Given the description of an element on the screen output the (x, y) to click on. 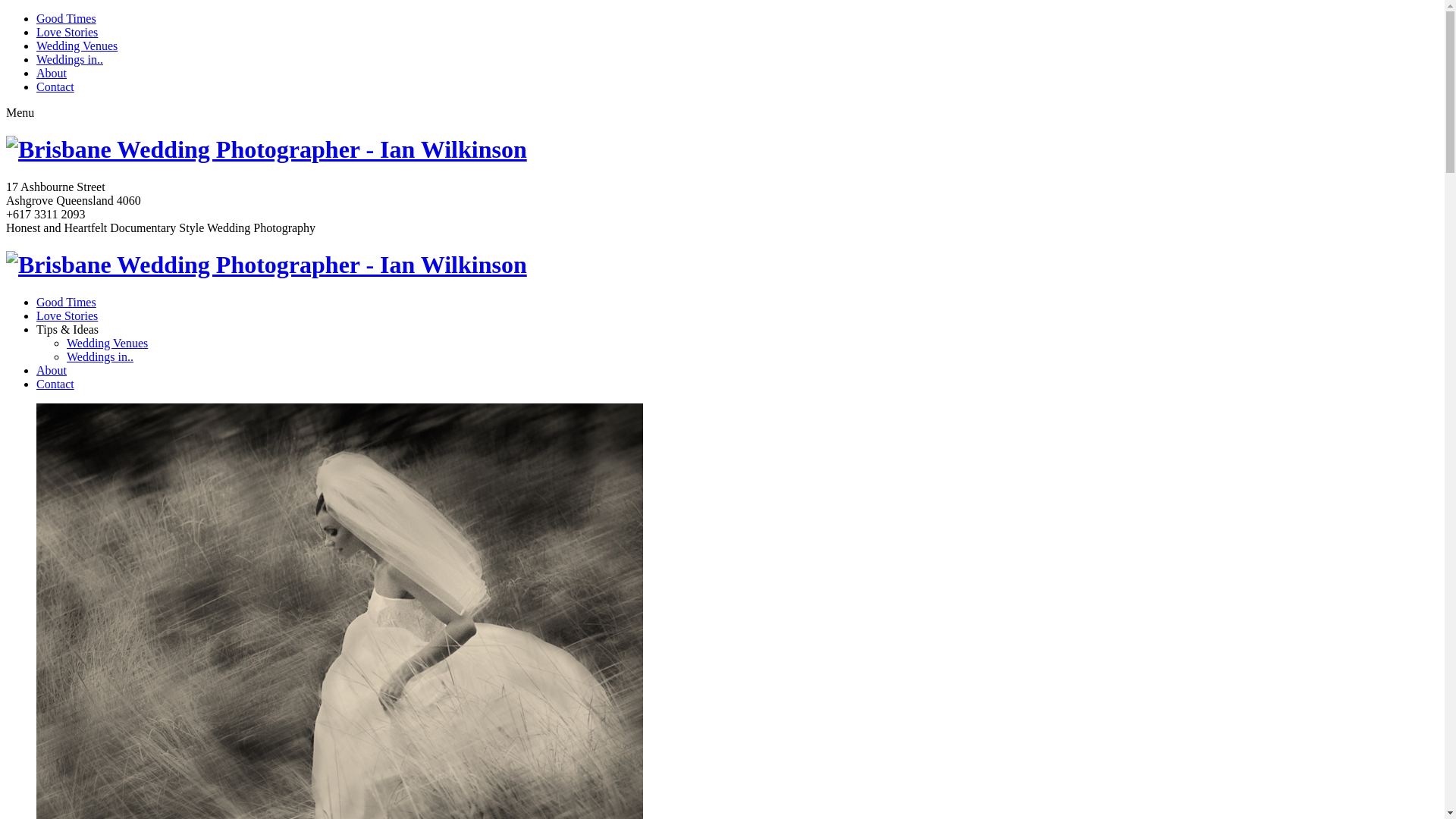
Menu Element type: text (20, 112)
Wedding Venues Element type: text (106, 342)
Weddings in.. Element type: text (99, 356)
Weddings in.. Element type: text (69, 59)
About Element type: text (51, 370)
Contact Element type: text (55, 383)
Good Times Element type: text (66, 18)
About Element type: text (51, 72)
Contact Element type: text (55, 86)
Wedding Venues Element type: text (76, 45)
Love Stories Element type: text (66, 315)
Tips & Ideas Element type: text (67, 329)
Love Stories Element type: text (66, 31)
Good Times Element type: text (66, 301)
